Given the description of an element on the screen output the (x, y) to click on. 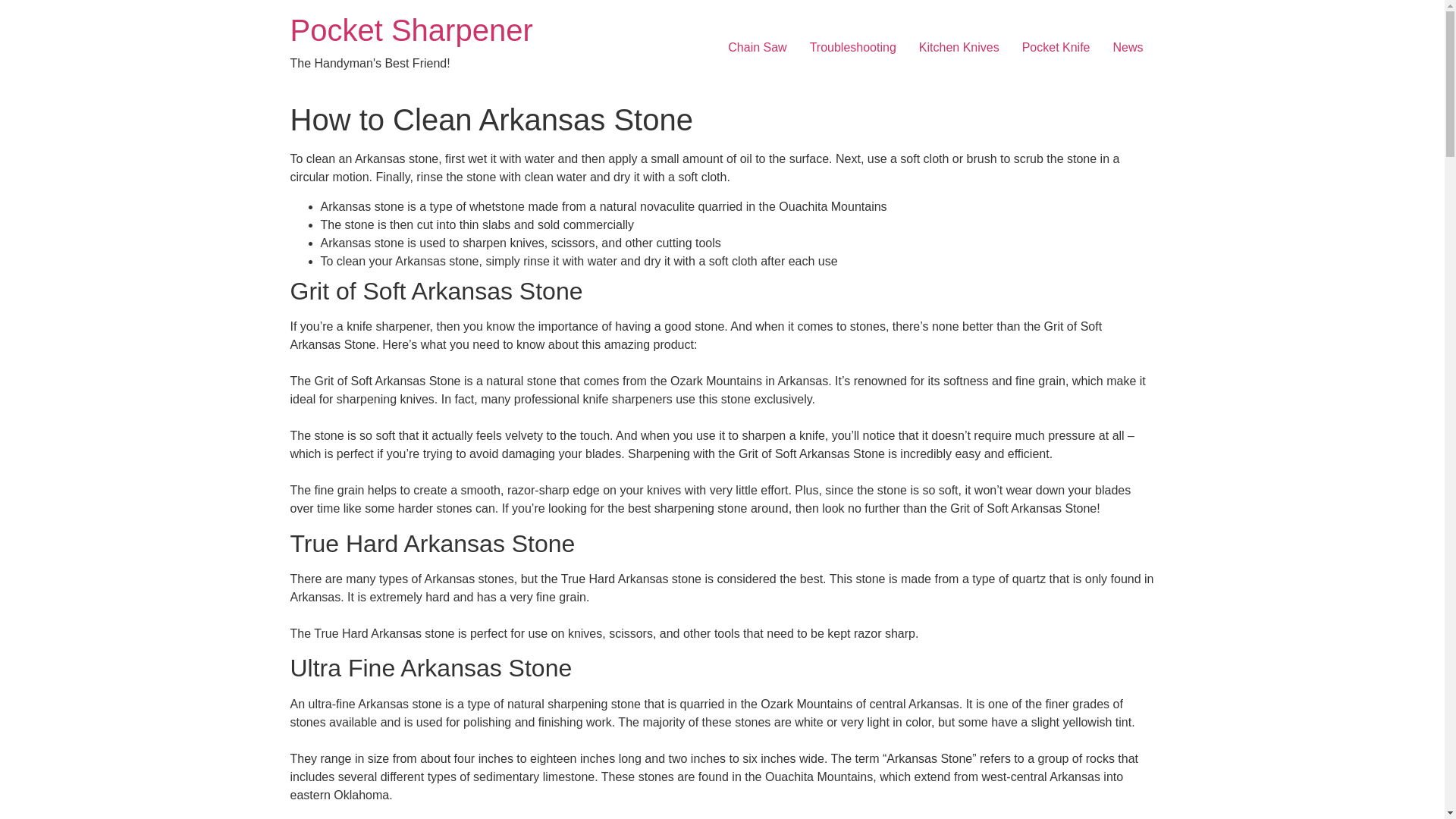
Chain Saw (756, 47)
Pocket Knife (1056, 47)
News (1127, 47)
Troubleshooting (852, 47)
Pocket Sharpener (410, 29)
Home (410, 29)
Kitchen Knives (958, 47)
